Given the description of an element on the screen output the (x, y) to click on. 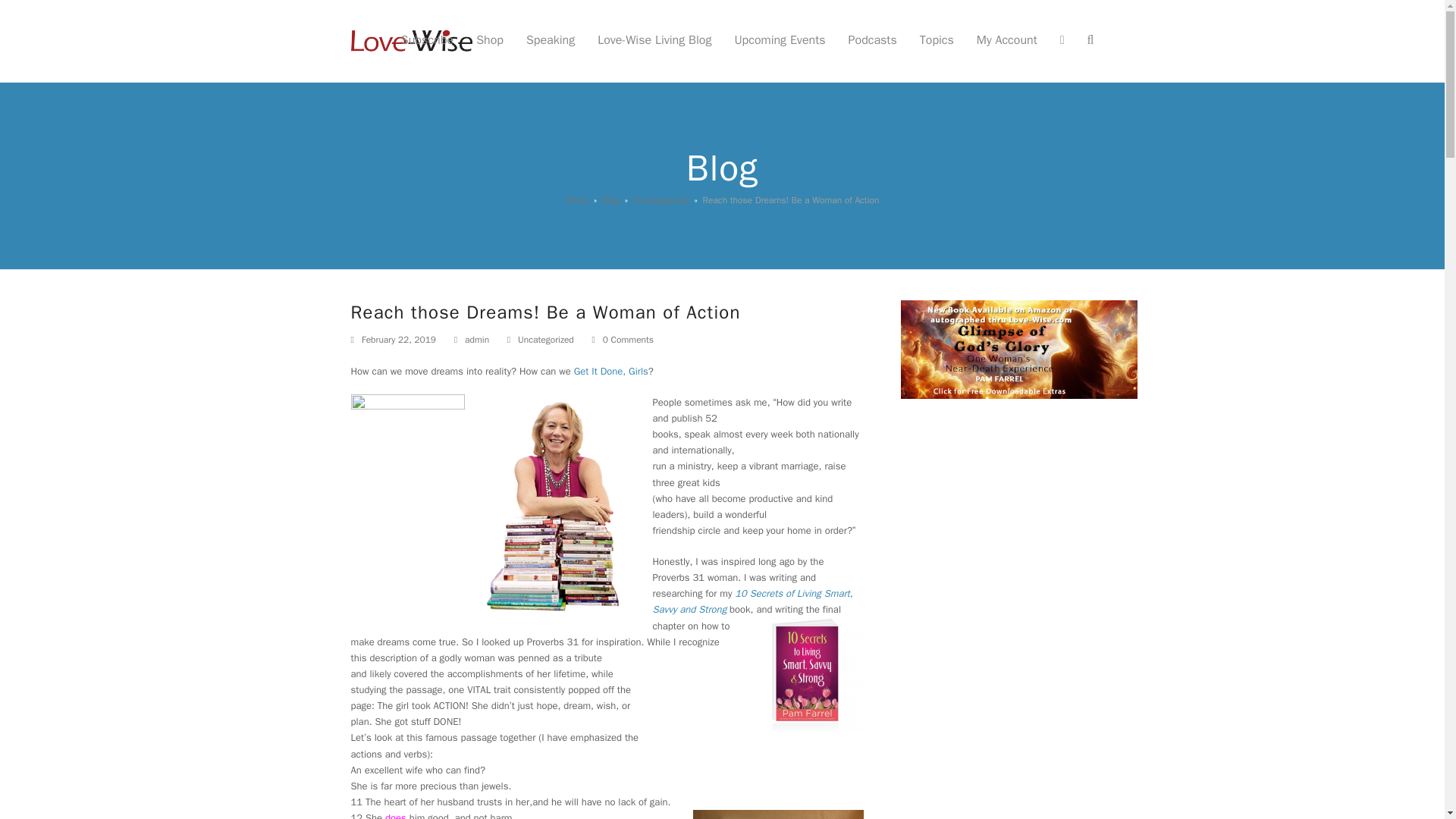
Posts by admin (476, 339)
My Account (1006, 40)
Subscribe (427, 40)
0 Comments (622, 339)
Love-Wise Living Blog (654, 40)
Speaking (550, 40)
Podcasts (872, 40)
Upcoming Events (778, 40)
Topics (936, 40)
Shop (489, 40)
